Given the description of an element on the screen output the (x, y) to click on. 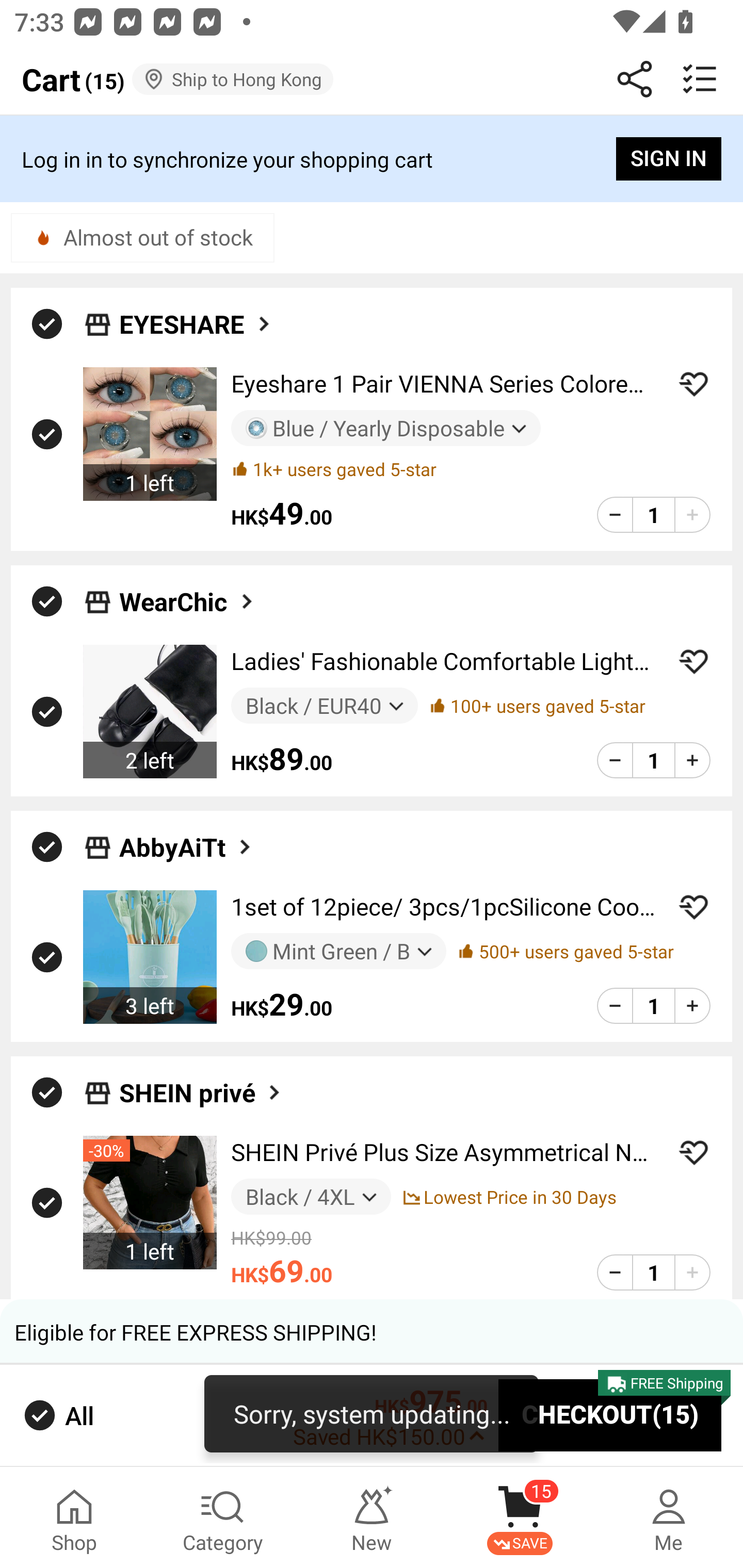
Cart (15) Ship to Hong Kong Share batch delete (371, 79)
Share (634, 79)
batch delete (699, 79)
Ship to Hong Kong (232, 78)
SIGN IN (668, 158)
Almost out of stock (142, 237)
EYESHARE (371, 318)
EYESHARE (196, 323)
ADD TO WISHLIST (693, 383)
 Blue / Yearly Disposable (385, 428)
product quantity minus 1 (614, 515)
1 edit product quantity (653, 515)
product quantity add 1 (692, 515)
WearChic (371, 596)
WearChic (187, 600)
ADD TO WISHLIST (693, 661)
Black / EUR40 (324, 705)
product quantity minus 1 (614, 759)
1 edit product quantity (653, 759)
product quantity add 1 (692, 759)
AbbyAiTt (371, 840)
AbbyAiTt (186, 846)
ADD TO WISHLIST (693, 906)
 Mint Green / B (338, 950)
product quantity minus 1 (614, 1005)
1 edit product quantity (653, 1005)
product quantity add 1 (692, 1005)
SHEIN privé (371, 1086)
SHEIN privé (201, 1092)
ADD TO WISHLIST (693, 1152)
Black / 4XL (310, 1197)
product quantity minus 1 (614, 1272)
1 edit product quantity (653, 1272)
product quantity add 1 (692, 1272)
Eligible for FREE EXPRESS SHIPPING! (371, 1331)
CHECKOUT(15) (609, 1415)
All (57, 1415)
